Given the description of an element on the screen output the (x, y) to click on. 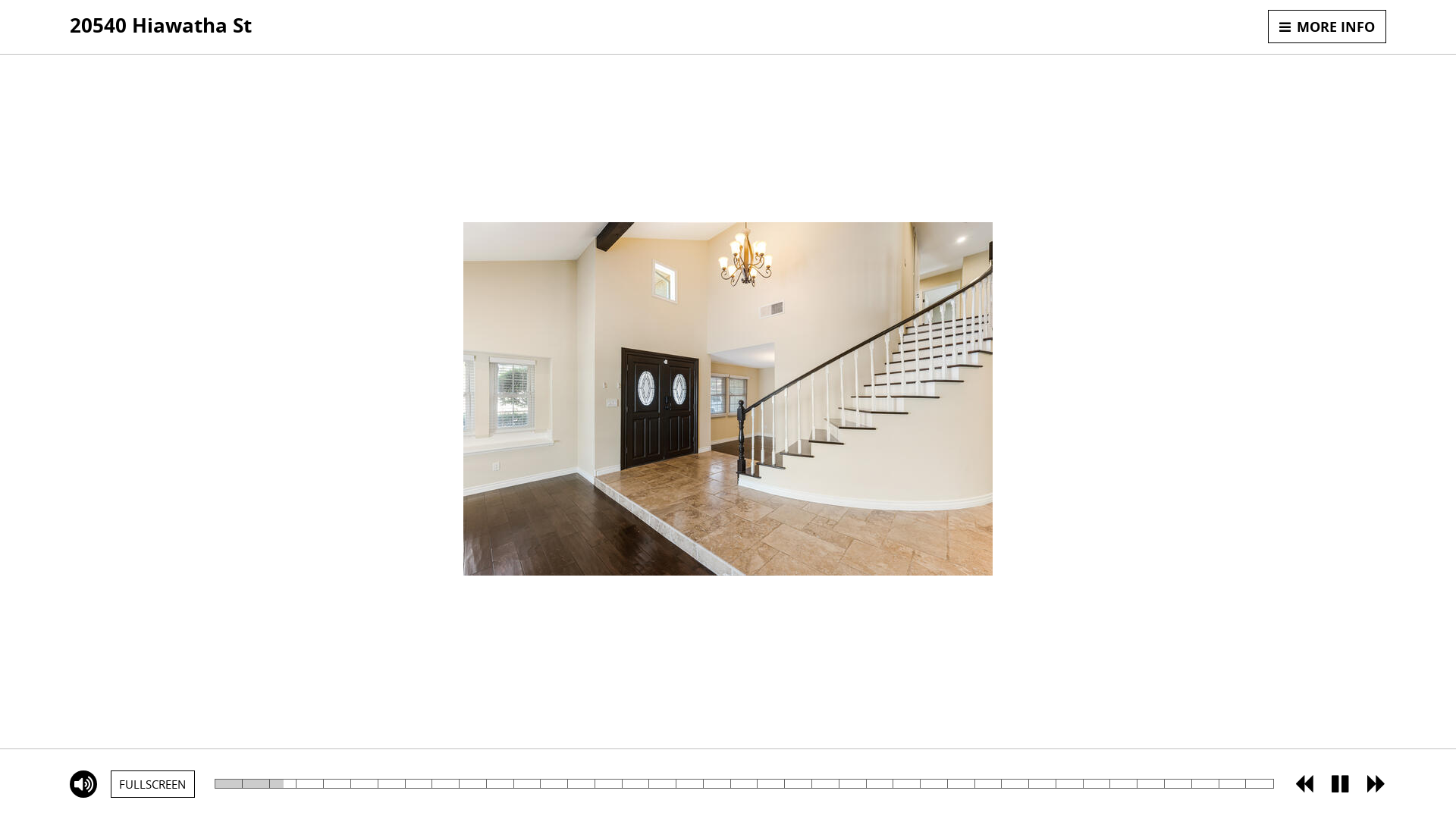
MORE INFO Element type: text (1326, 26)
